Given the description of an element on the screen output the (x, y) to click on. 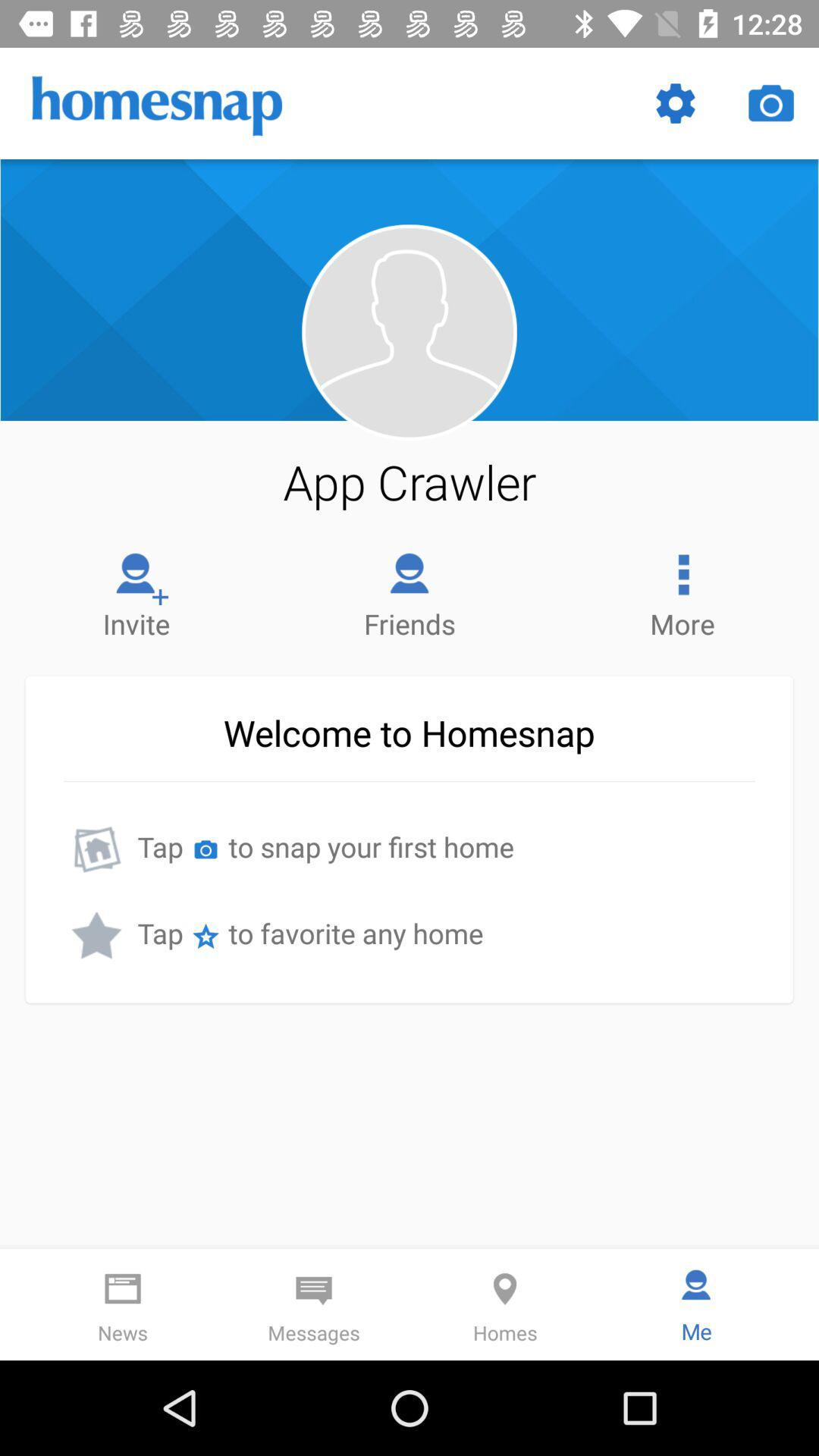
click item to the left of the more (409, 591)
